Given the description of an element on the screen output the (x, y) to click on. 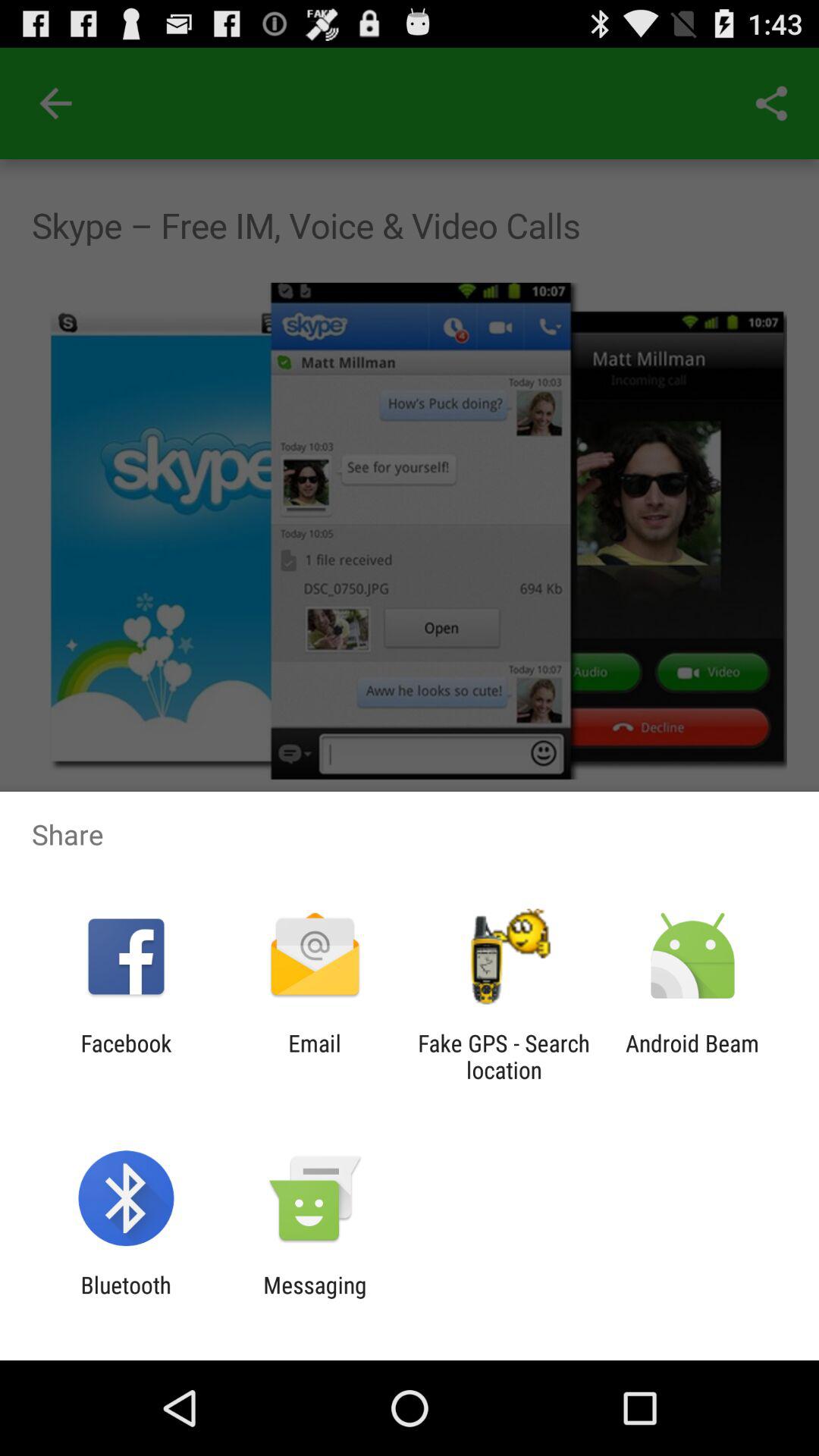
turn on the fake gps search (503, 1056)
